Given the description of an element on the screen output the (x, y) to click on. 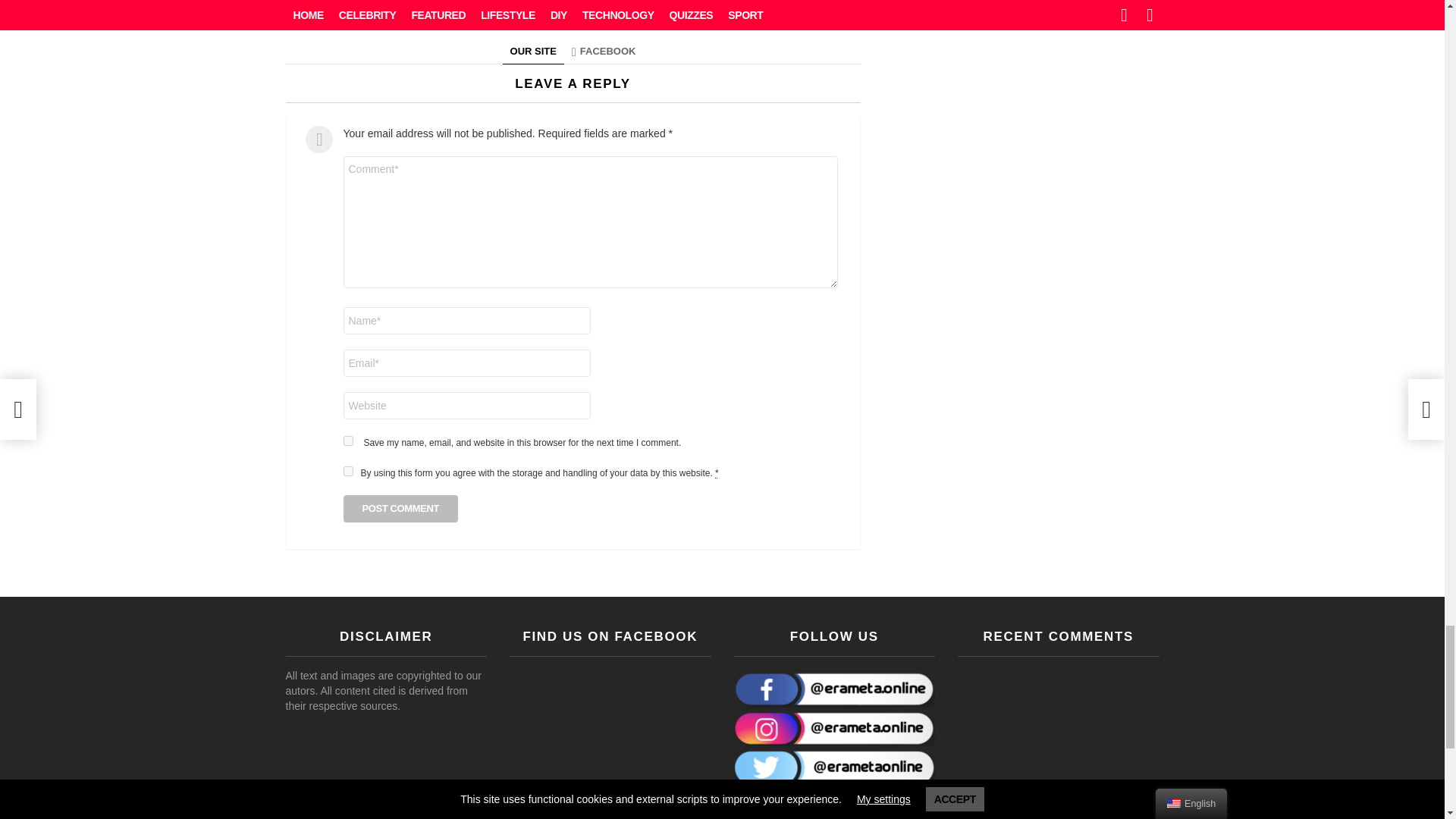
yes (347, 440)
Post Comment (400, 508)
1 (347, 470)
